Given the description of an element on the screen output the (x, y) to click on. 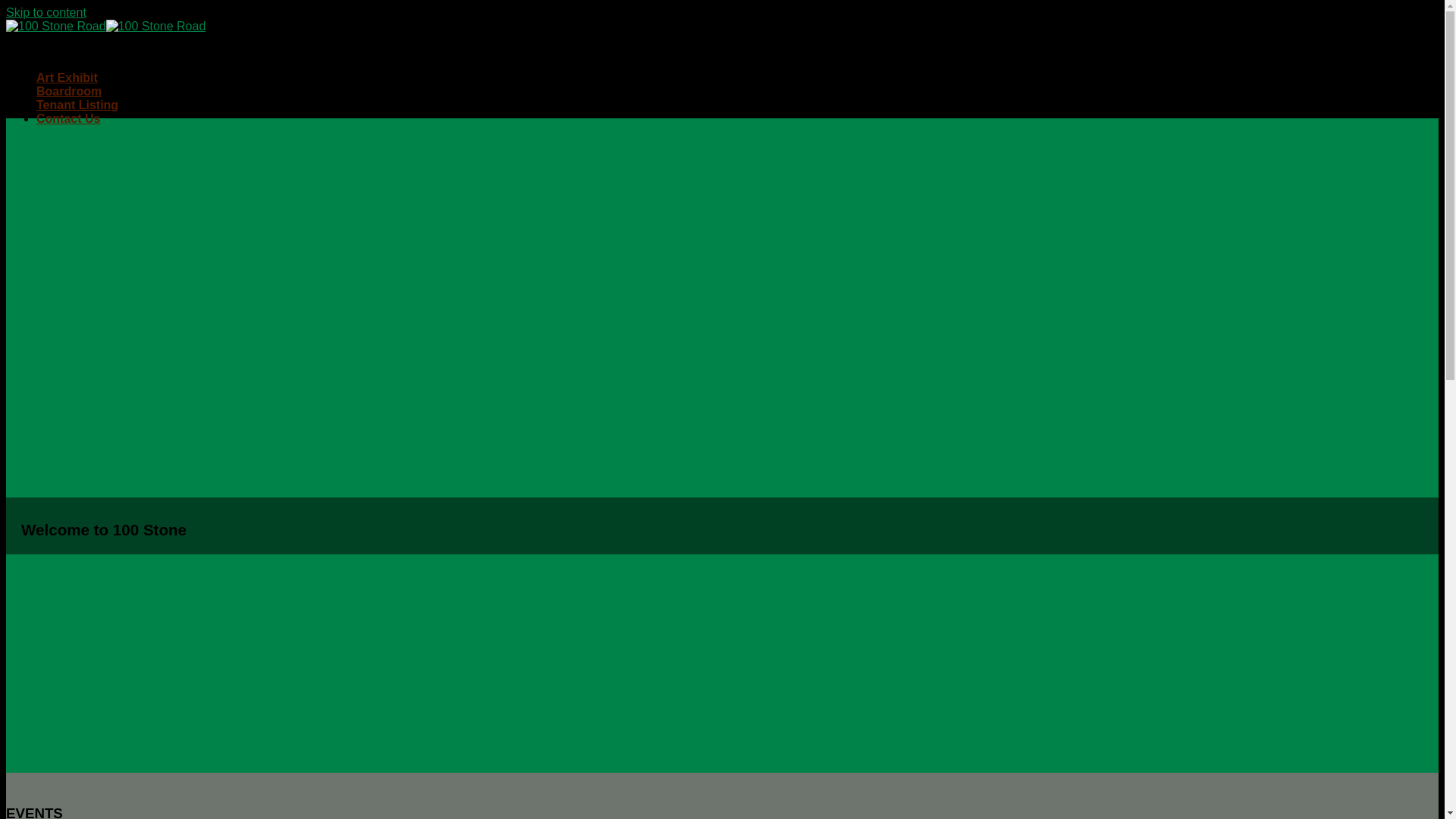
Boardroom Element type: text (68, 90)
Tenant Listing Element type: text (77, 104)
Art Exhibit Element type: text (66, 77)
Skip to content Element type: text (46, 12)
Contact Us Element type: text (68, 118)
